Given the description of an element on the screen output the (x, y) to click on. 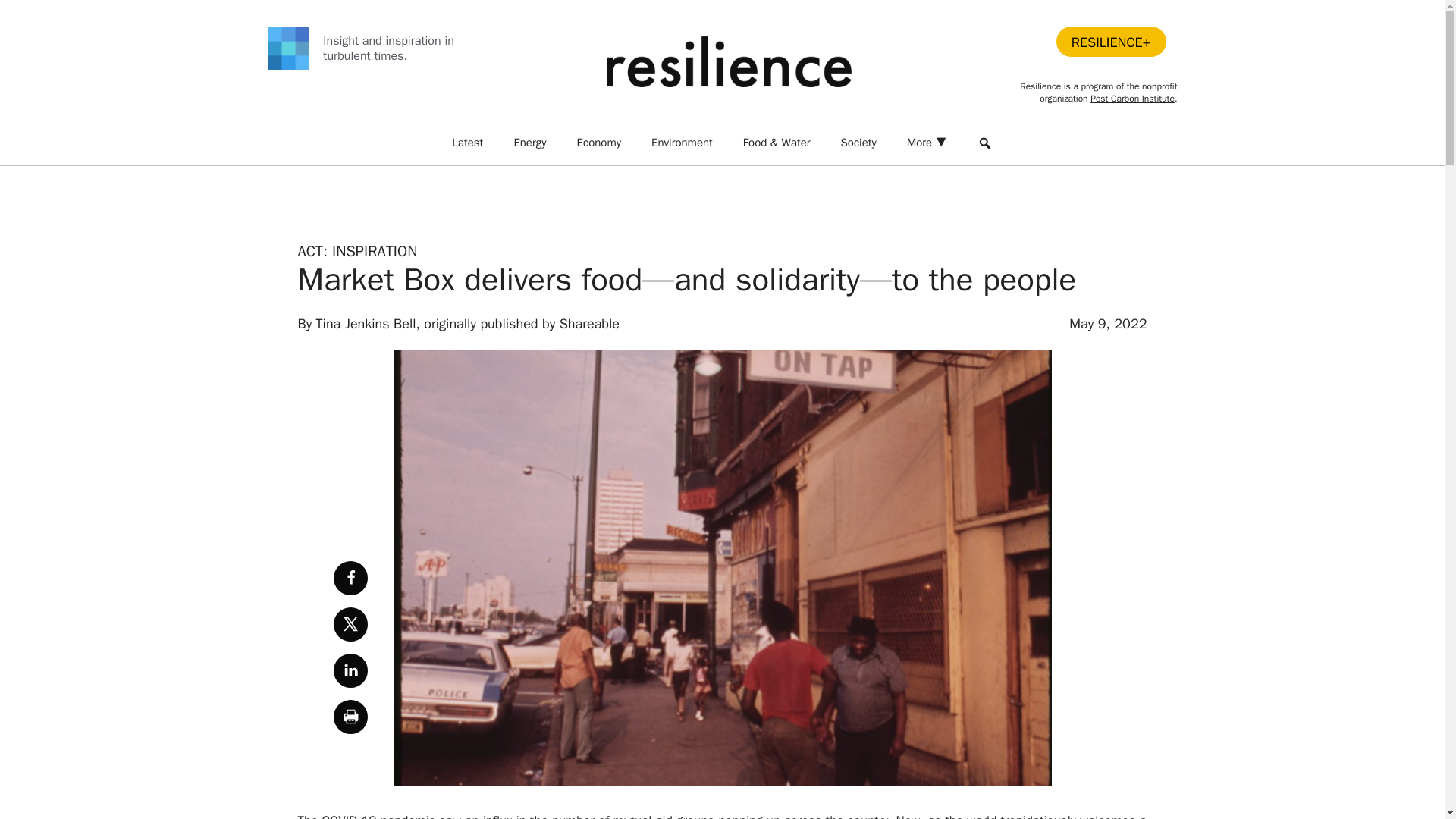
Print this webpage (350, 716)
Share on X (350, 624)
Share on Facebook (350, 578)
Post Carbon Institute (1132, 98)
Share on LinkedIn (350, 670)
